Given the description of an element on the screen output the (x, y) to click on. 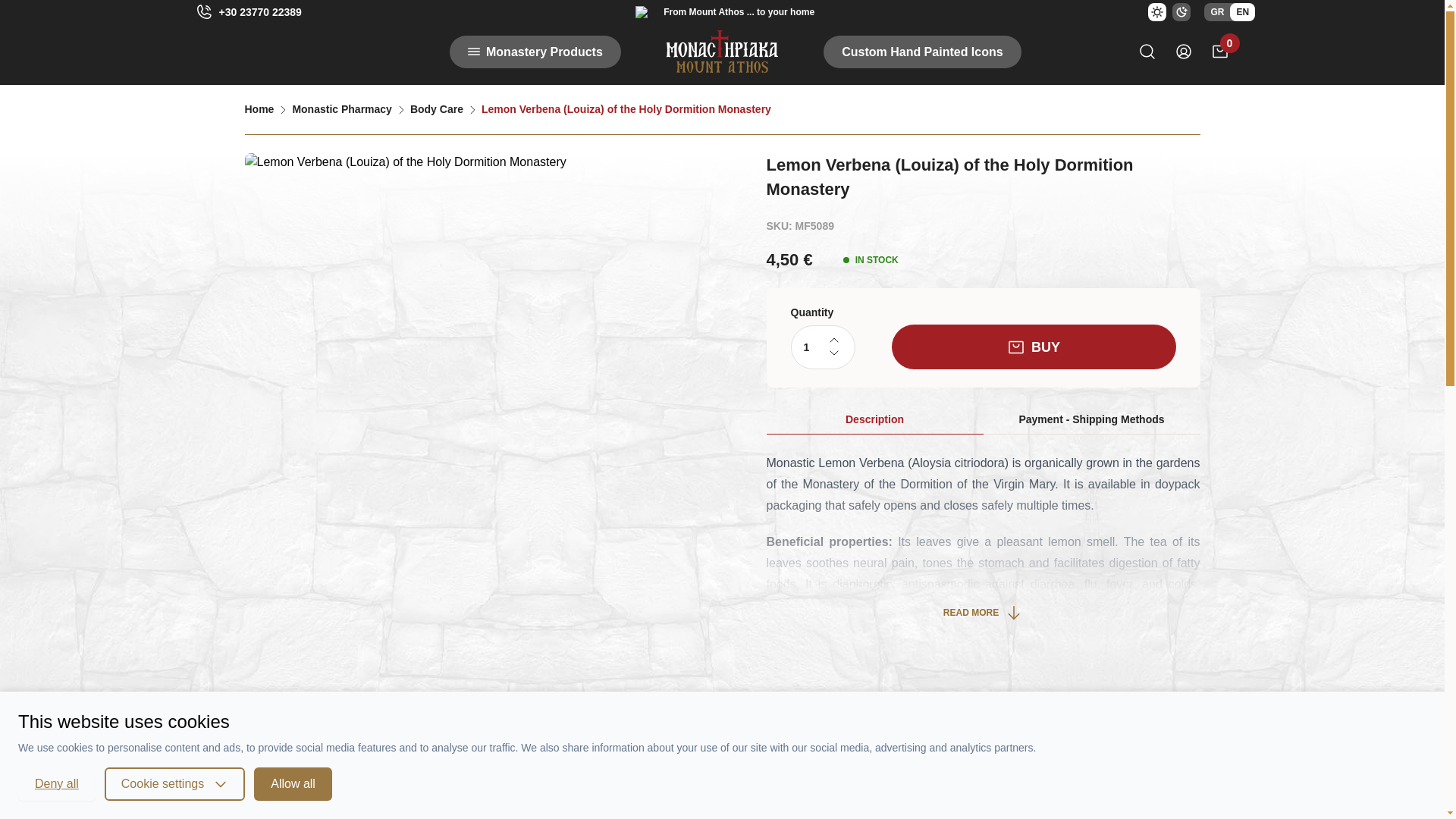
Home (258, 109)
READ MORE (983, 612)
Monastic Pharmacy (341, 109)
0 (1218, 51)
Custom Hand Painted Icons (922, 51)
BUY (1033, 346)
1 (822, 347)
Body Care (436, 109)
GR (1217, 12)
Monastery Products (535, 51)
EN (1242, 12)
